Given the description of an element on the screen output the (x, y) to click on. 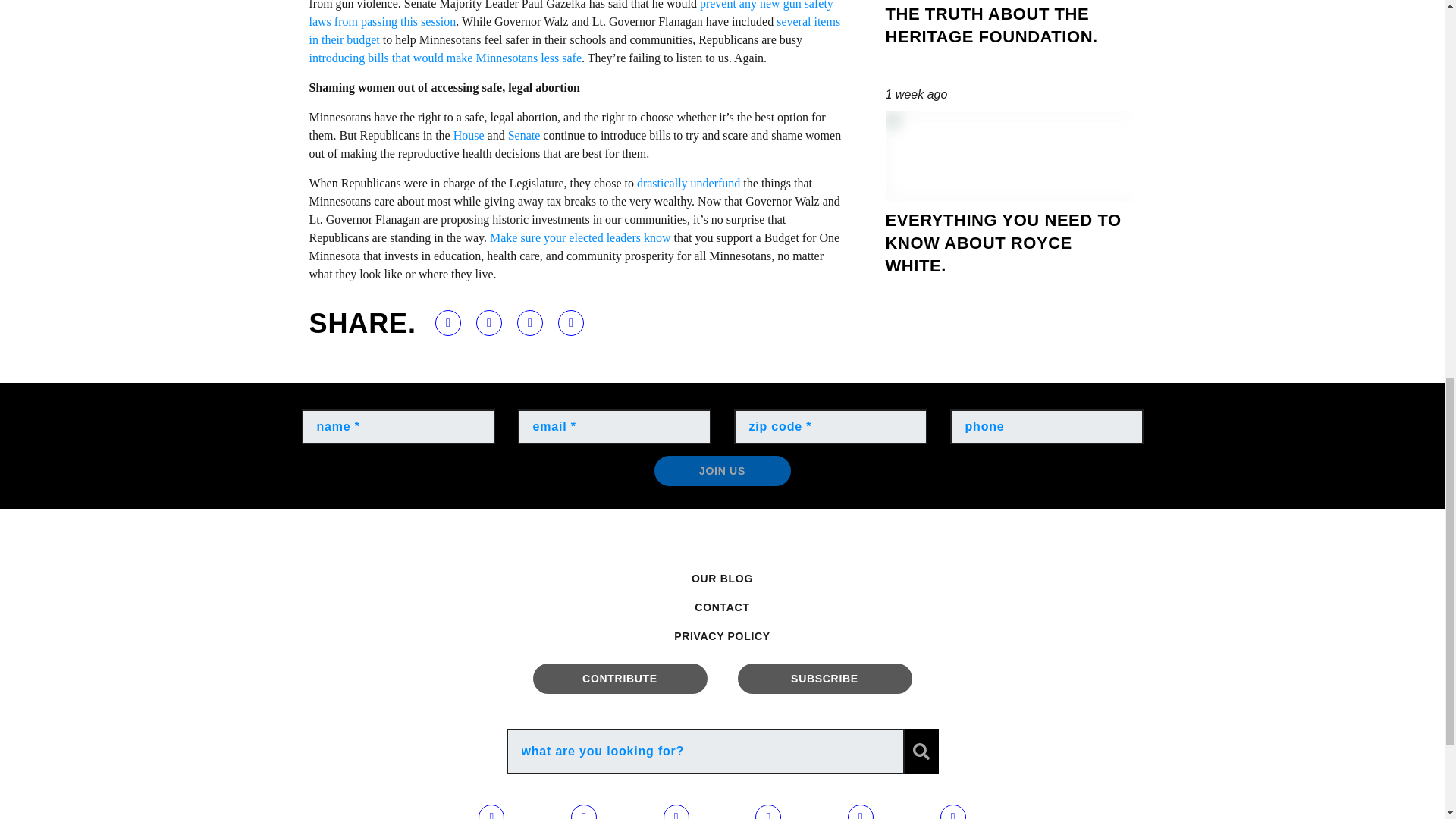
The Truth About The Heritage Foundation. (1010, 42)
House (468, 134)
introducing bills that would make Minnesotans less safe (445, 57)
Everything You Need to Know About Royce White. (1010, 199)
several items in their budget (574, 30)
prevent any new gun safety laws from passing this session (570, 13)
